Given the description of an element on the screen output the (x, y) to click on. 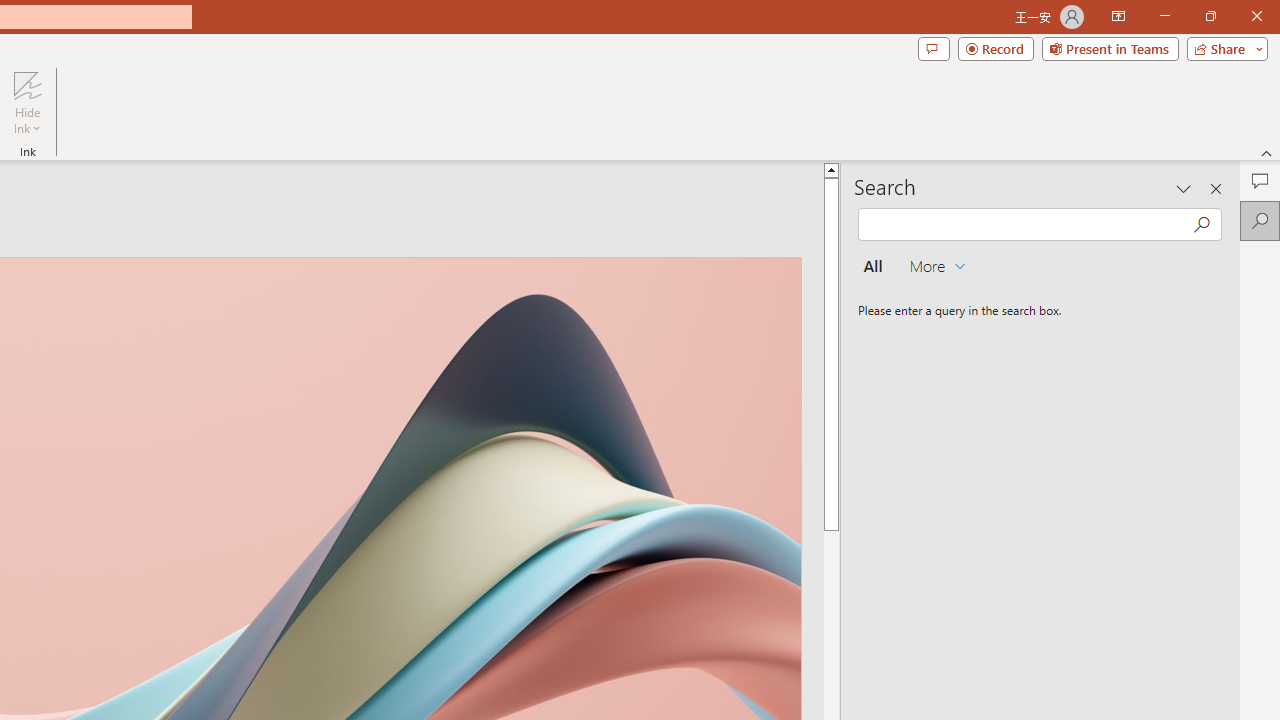
Hide Ink (27, 102)
Hide Ink (27, 84)
